Given the description of an element on the screen output the (x, y) to click on. 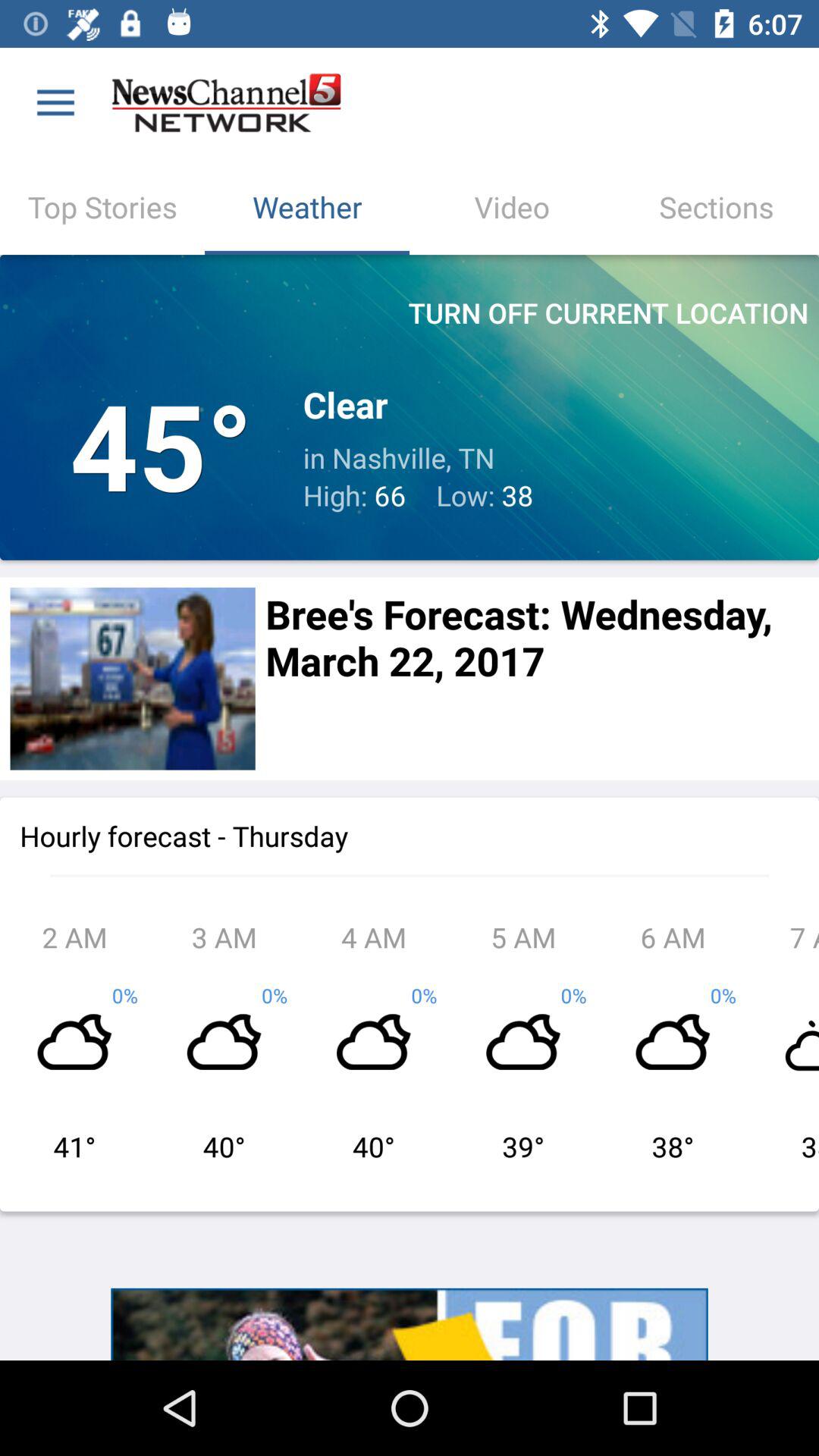
more information about an advertisement (409, 1324)
